Given the description of an element on the screen output the (x, y) to click on. 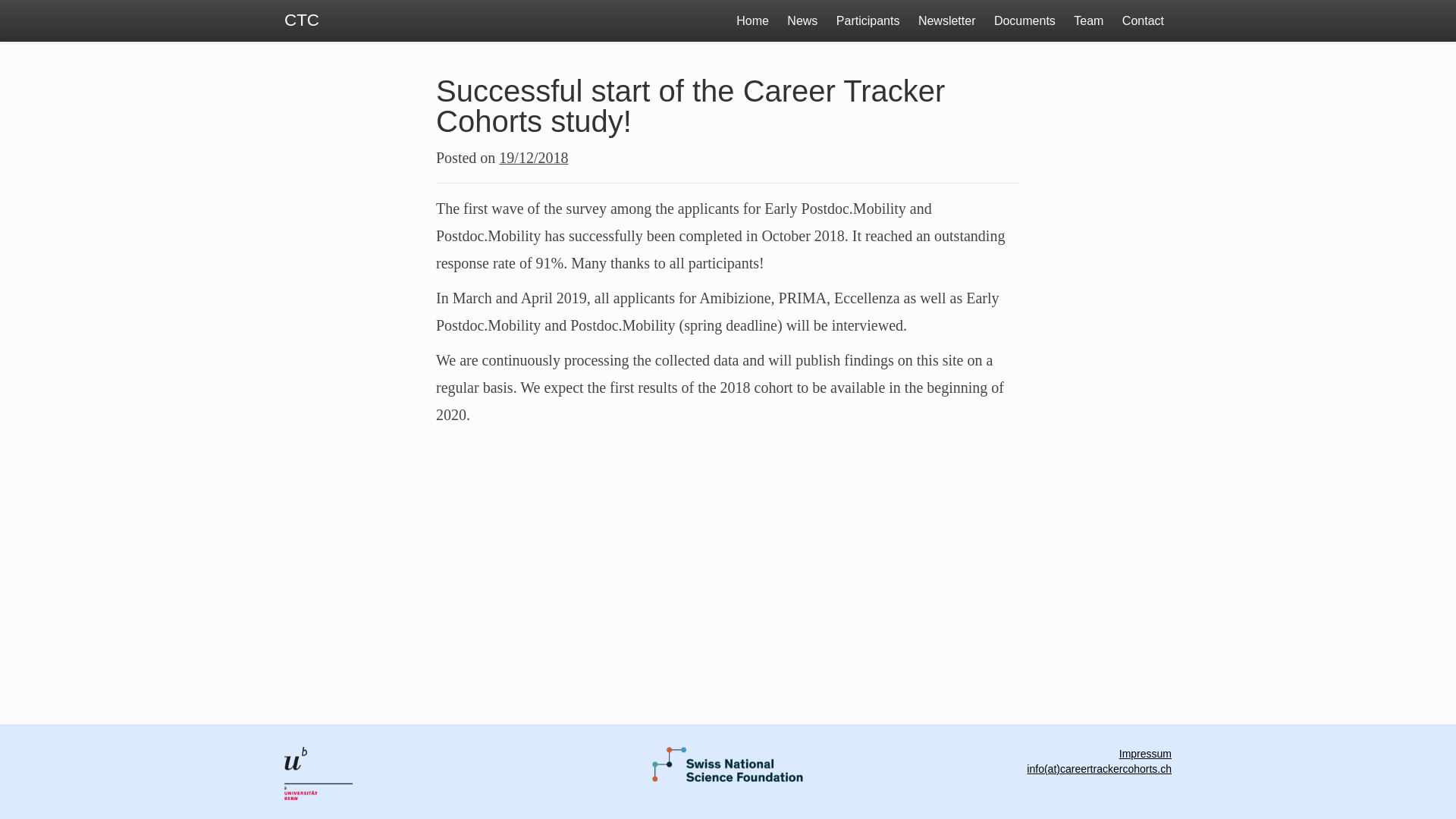
info(at)careertrackercohorts.ch Element type: text (1098, 768)
Successful start of the Career Tracker Cohorts study! Element type: text (690, 106)
News Element type: text (802, 20)
Impressum Element type: text (1145, 753)
CTC Element type: text (301, 20)
Home Element type: text (752, 20)
Documents Element type: text (1024, 20)
Participants Element type: text (867, 20)
Newsletter Element type: text (946, 20)
19/12/2018 Element type: text (532, 157)
Team Element type: text (1088, 20)
Contact Element type: text (1142, 20)
